Given the description of an element on the screen output the (x, y) to click on. 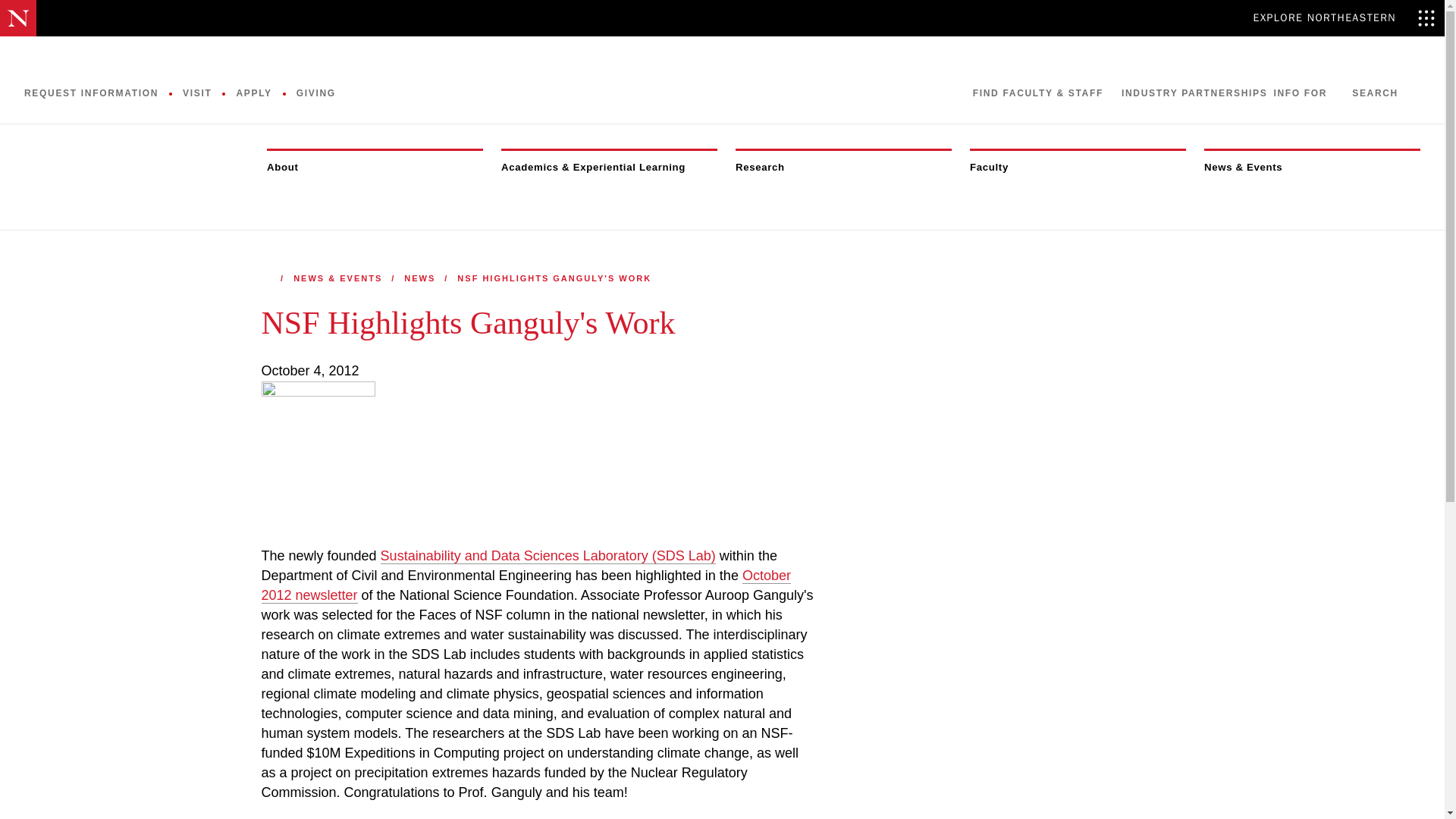
INFO FOR (1308, 92)
APPLY (252, 93)
GIVING (316, 93)
About (368, 167)
VISIT (197, 93)
SEARCH (1386, 92)
REQUEST INFORMATION (91, 93)
INDUSTRY PARTNERSHIPS (1193, 92)
